Given the description of an element on the screen output the (x, y) to click on. 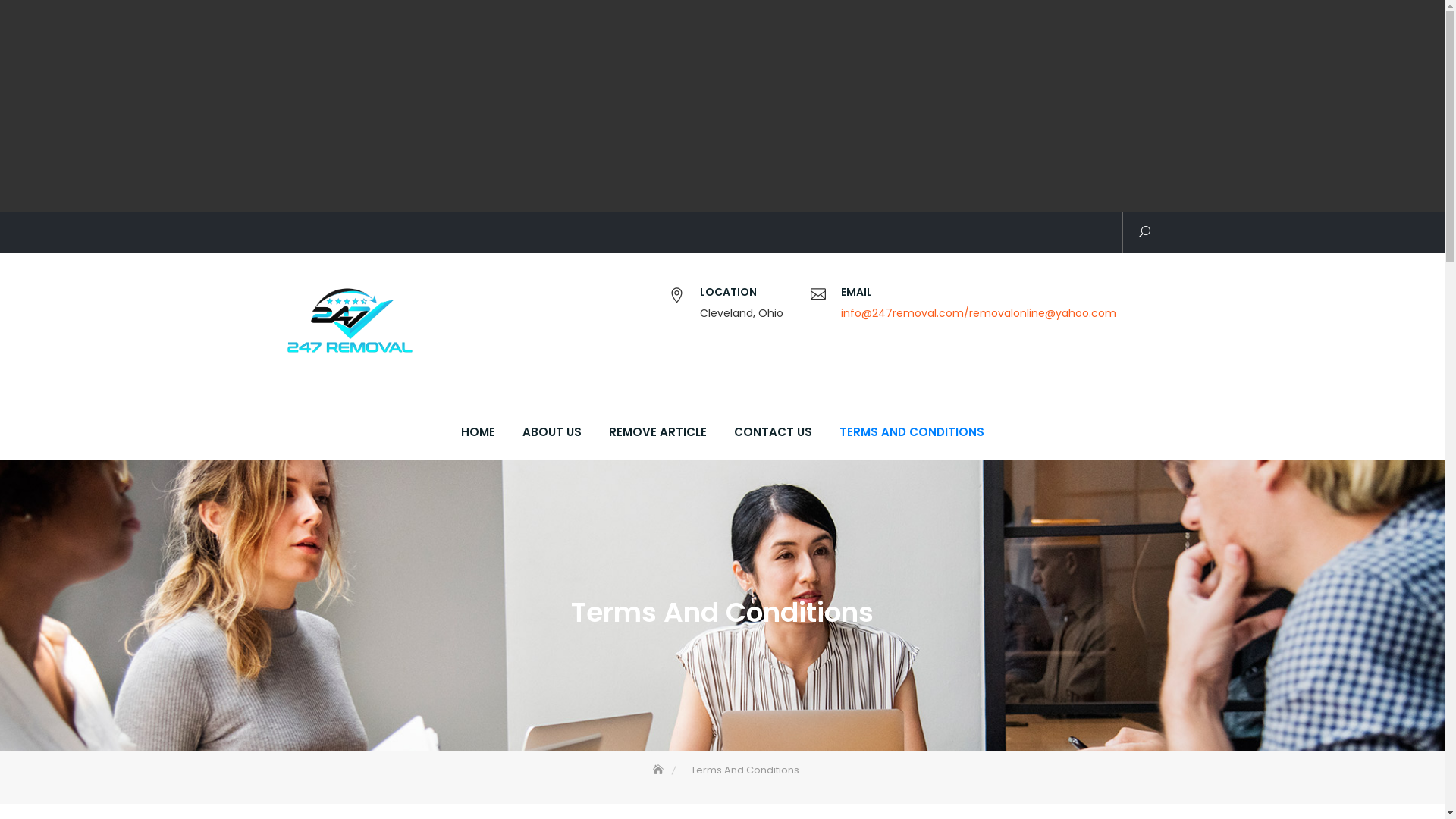
REMOVE ARTICLE Element type: text (657, 432)
Advertisement Element type: hover (458, 106)
info@247removal.com/removalonline@yahoo.com Element type: text (977, 312)
HOME Element type: text (477, 432)
CONTACT US Element type: text (772, 432)
TERMS AND CONDITIONS Element type: text (910, 432)
ABOUT US Element type: text (551, 432)
Home Element type: text (659, 769)
